Given the description of an element on the screen output the (x, y) to click on. 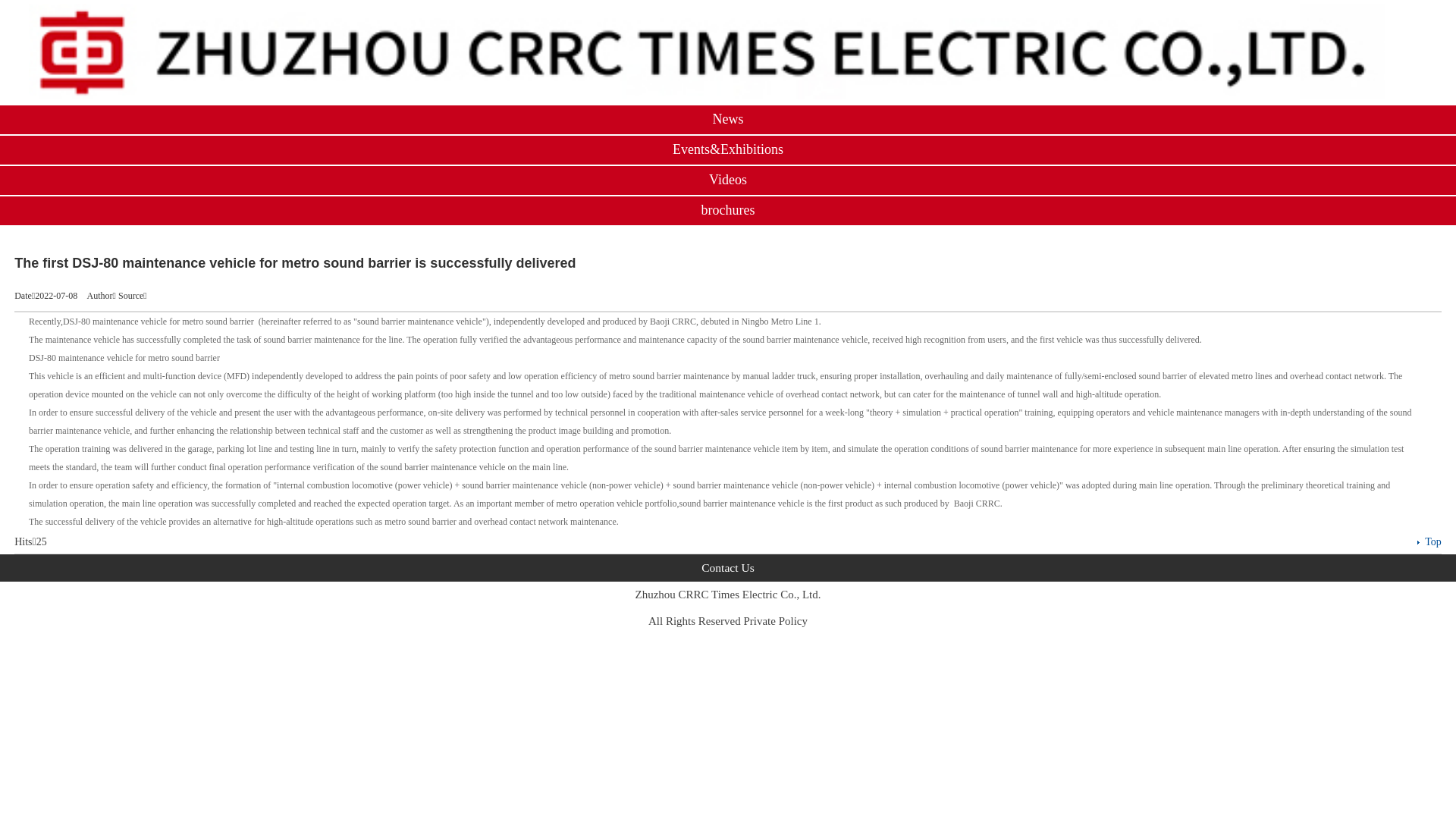
News Element type: text (728, 118)
Videos Element type: text (727, 179)
brochures Element type: text (727, 209)
Contact Us Element type: text (727, 567)
Top Element type: text (1432, 541)
Events&Exhibitions Element type: text (727, 148)
